Given the description of an element on the screen output the (x, y) to click on. 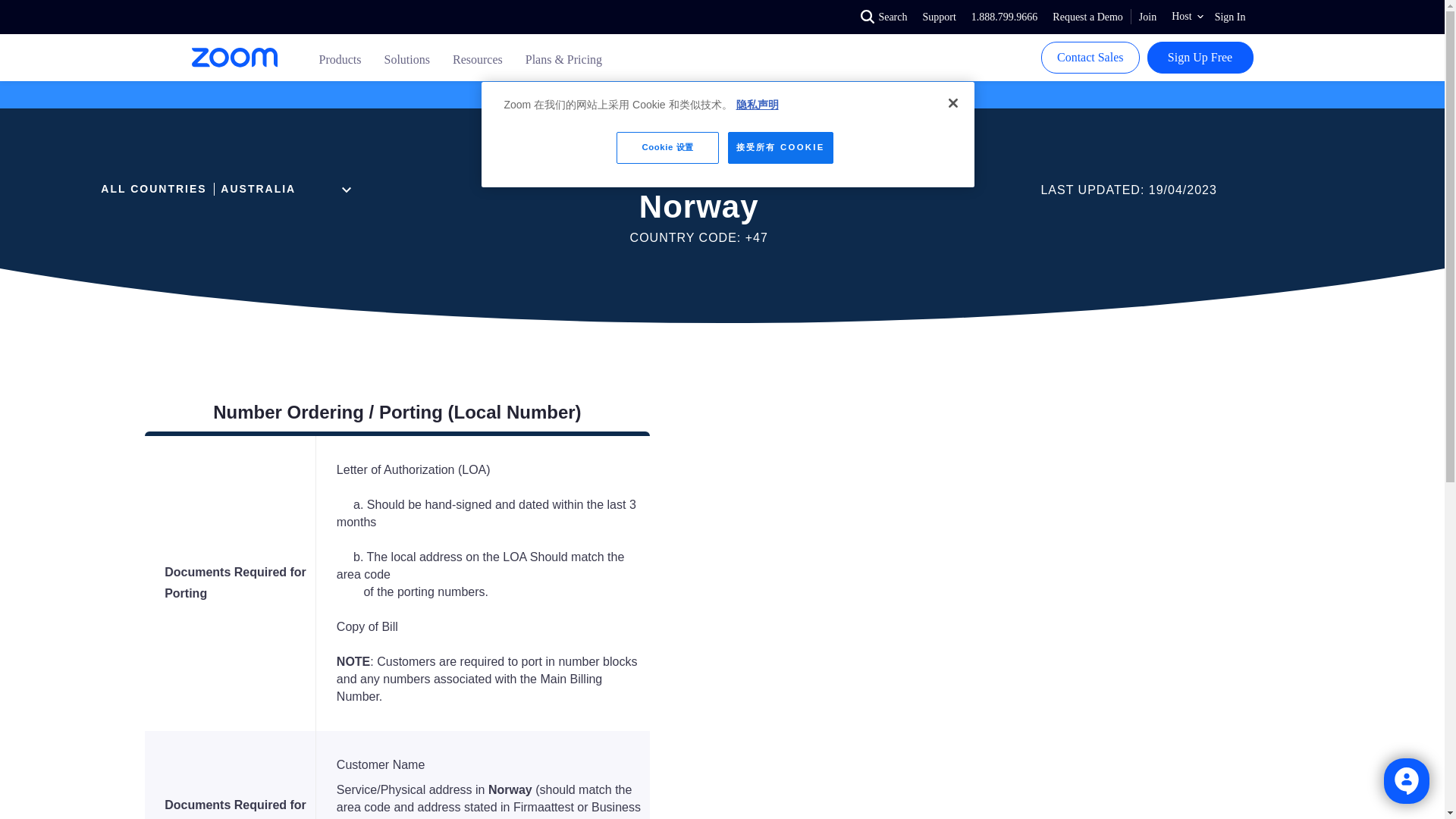
Join (1147, 16)
Host (1185, 17)
Support (938, 16)
Sign In (1230, 16)
Products (339, 59)
1.888.799.9666 (1004, 16)
Request a Demo (1088, 16)
Skip to main content (4, 4)
Chat with bot (1406, 780)
